Given the description of an element on the screen output the (x, y) to click on. 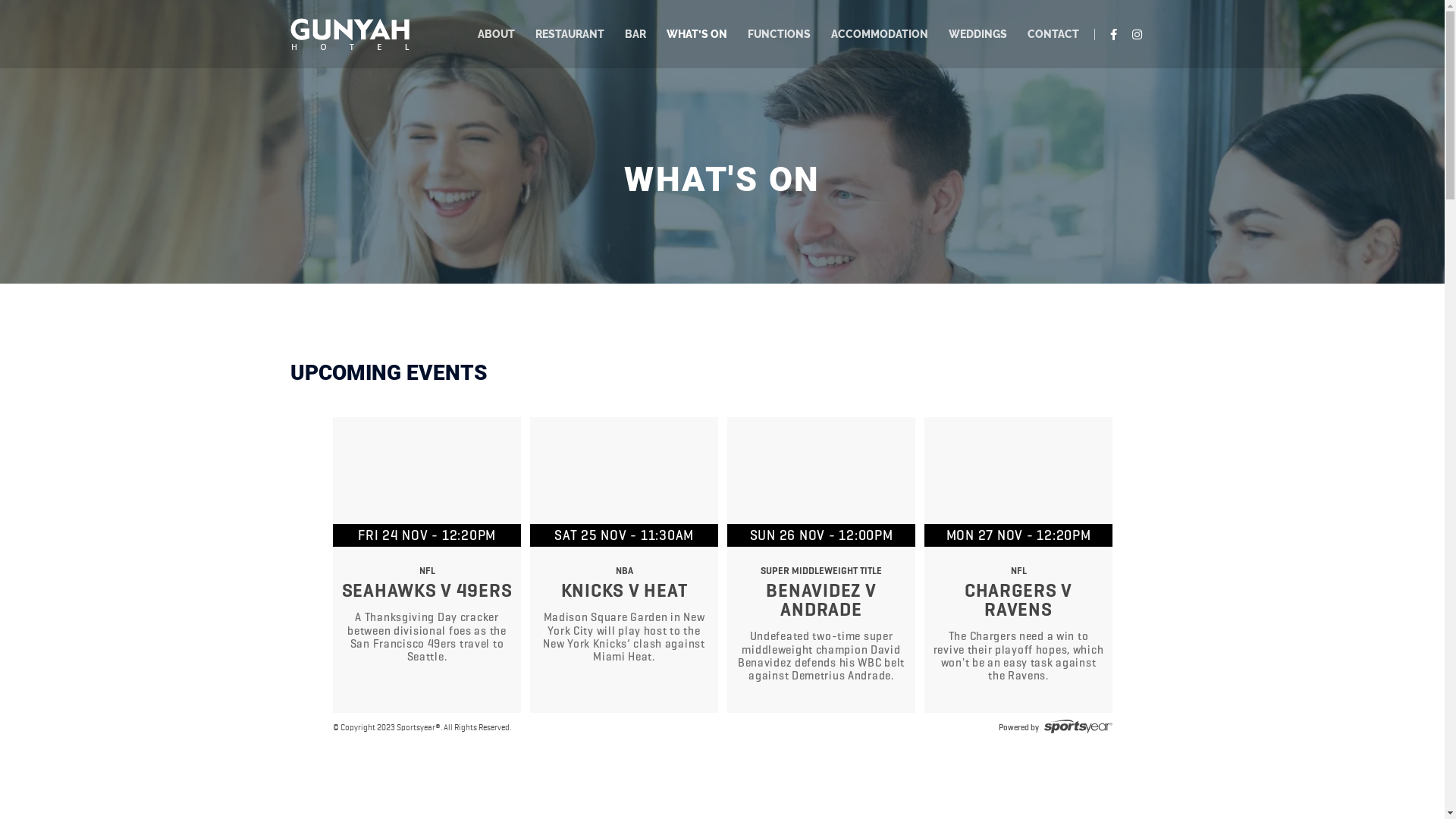
ABOUT Element type: text (495, 34)
CONTACT Element type: text (1053, 34)
ACCOMMODATION Element type: text (879, 34)
BAR Element type: text (635, 34)
RESTAURANT Element type: text (569, 34)
FUNCTIONS Element type: text (778, 34)
WEDDINGS Element type: text (977, 34)
